Given the description of an element on the screen output the (x, y) to click on. 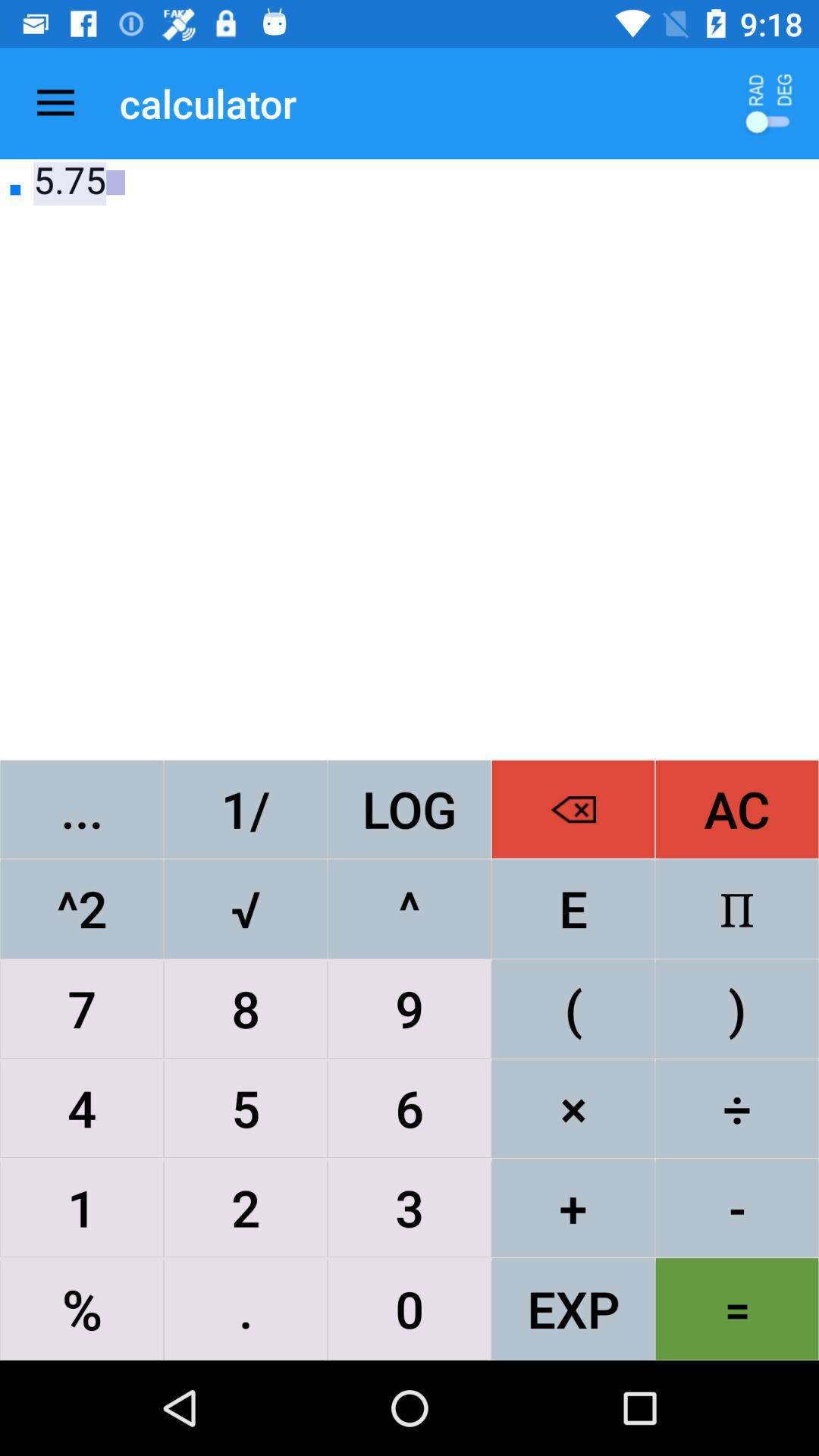
click app next to calculator icon (55, 103)
